Given the description of an element on the screen output the (x, y) to click on. 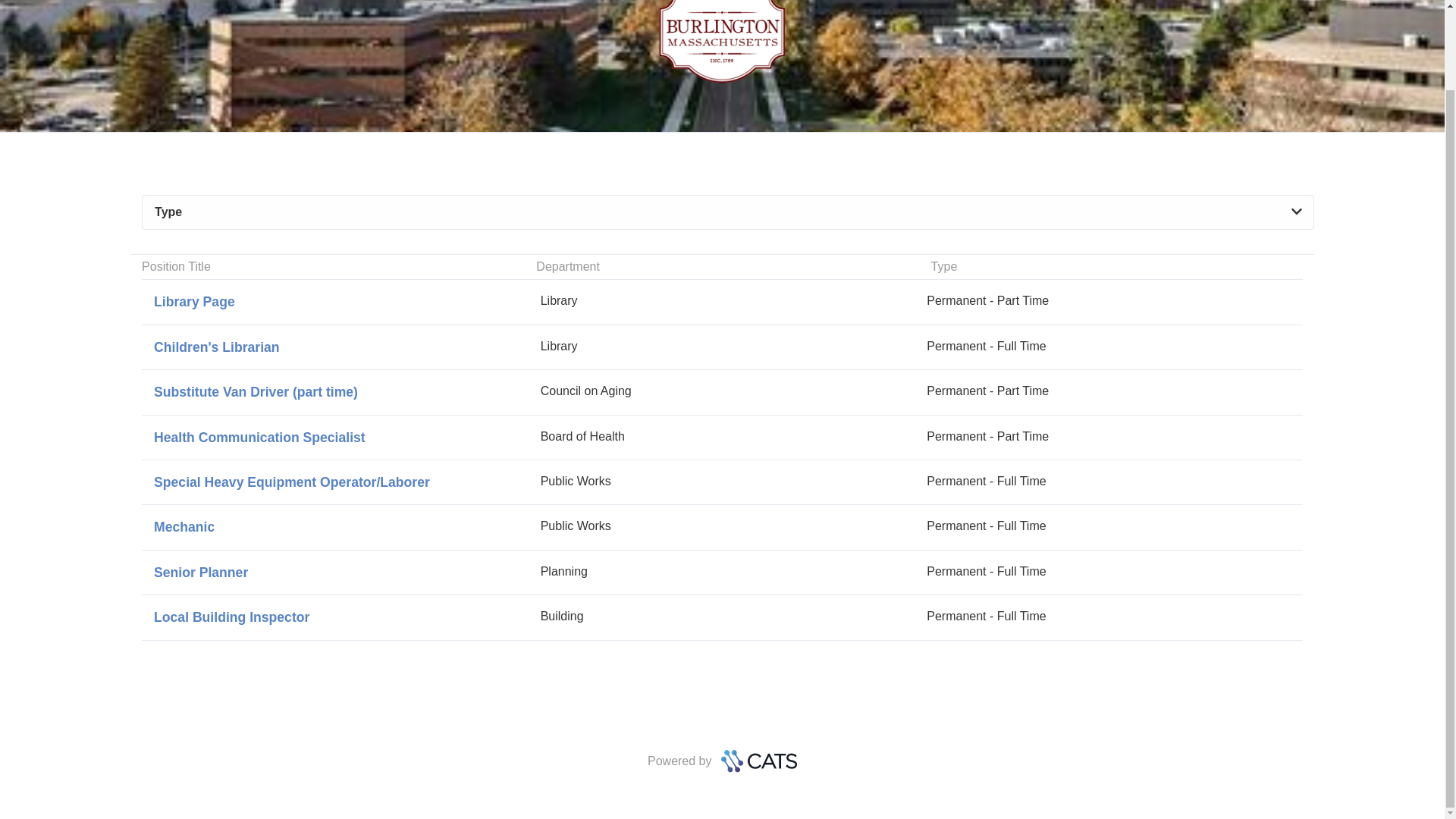
Type (722, 571)
